Given the description of an element on the screen output the (x, y) to click on. 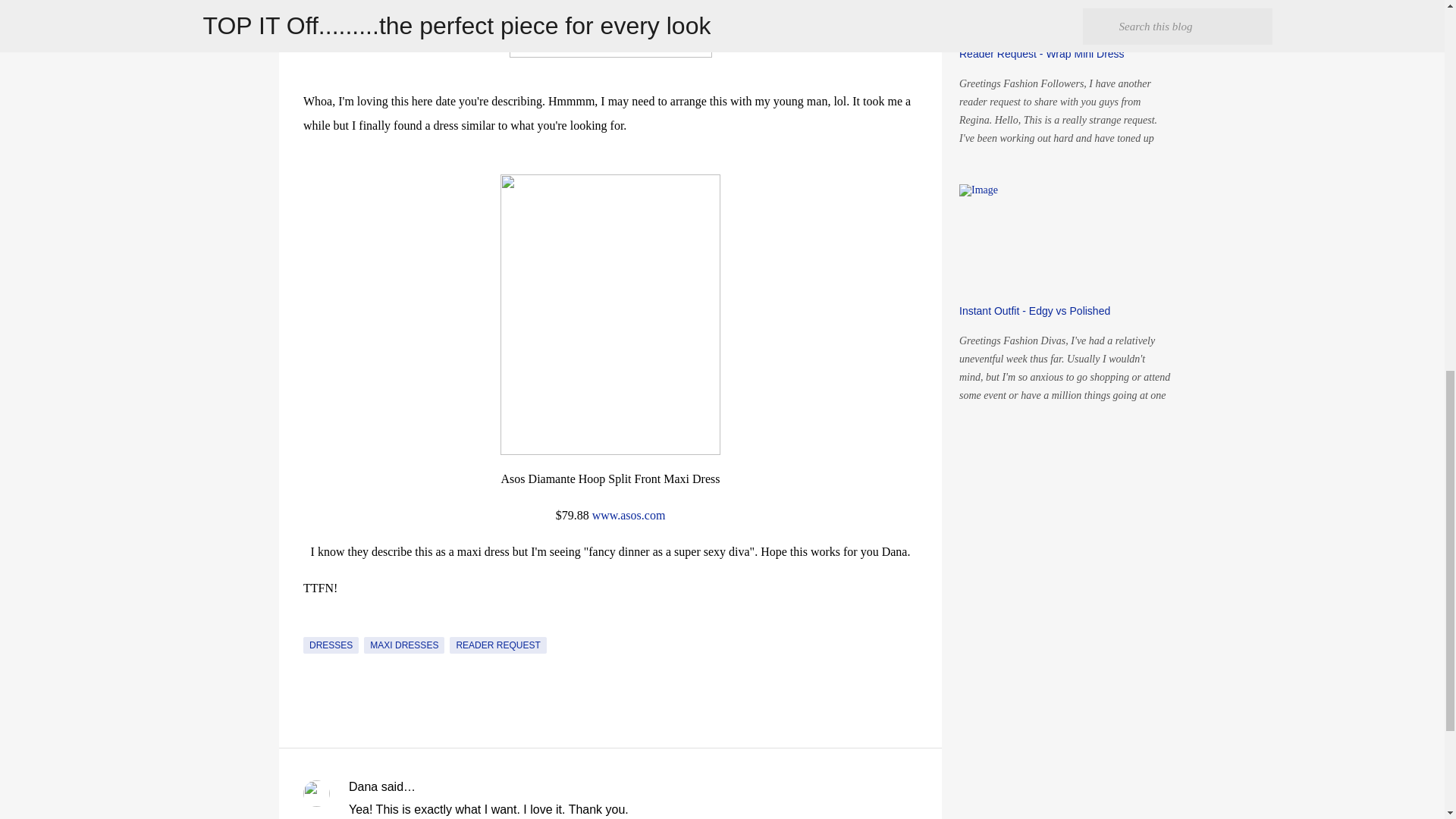
MAXI DRESSES (404, 645)
Instant Outfit - Edgy vs Polished (1034, 310)
Email Post (311, 627)
DRESSES (330, 645)
READER REQUEST (497, 645)
Reader Request - Wrap Mini Dress (1041, 53)
www.asos.com (628, 514)
